Given the description of an element on the screen output the (x, y) to click on. 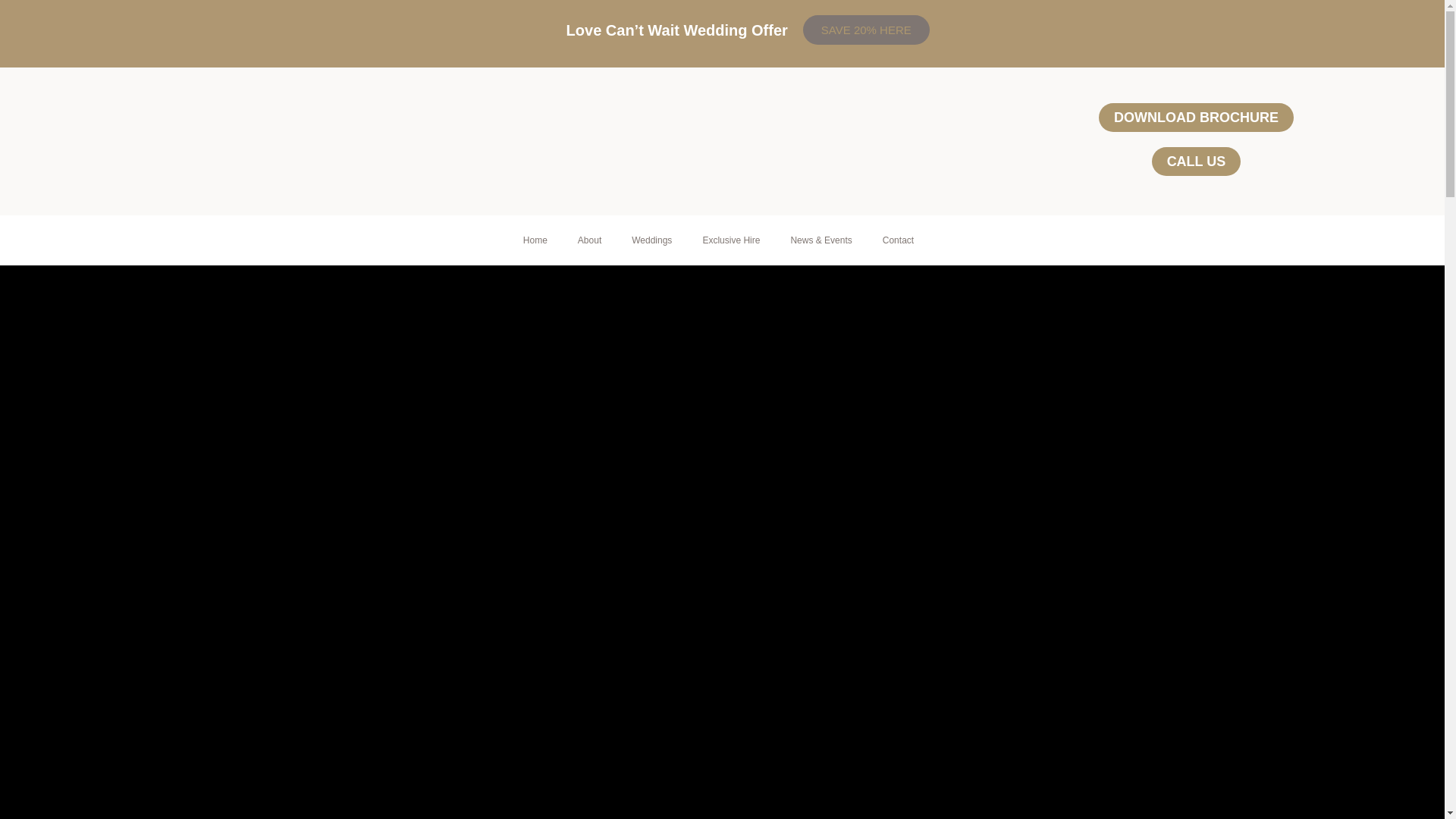
Exclusive Hire (730, 239)
Home (535, 239)
Contact (897, 239)
CALL US (1196, 161)
Weddings (651, 239)
About (588, 239)
DOWNLOAD BROCHURE (1196, 117)
